Given the description of an element on the screen output the (x, y) to click on. 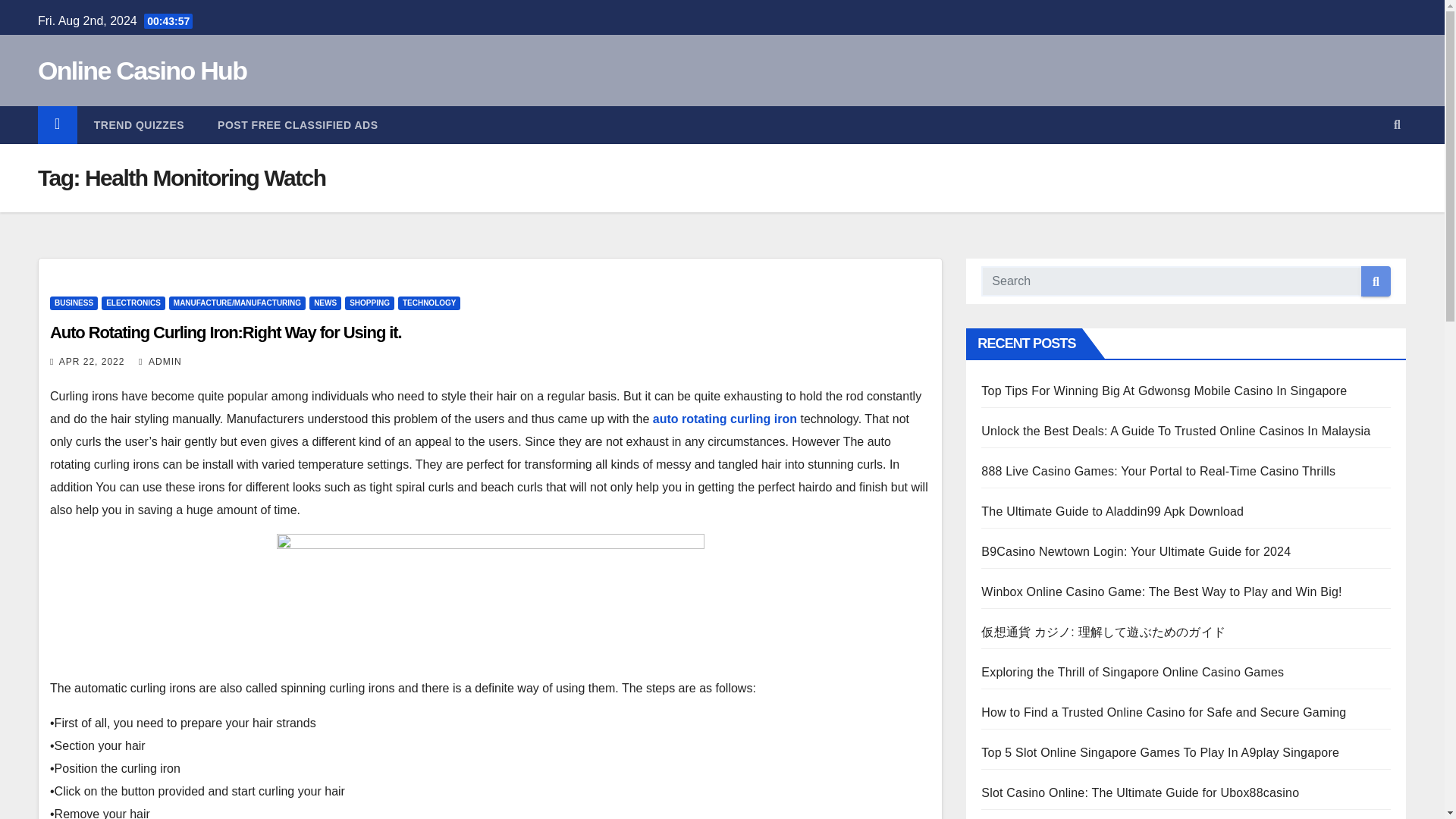
NEWS (324, 303)
Auto Rotating Curling Iron:Right Way for Using it. (225, 332)
SHOPPING (369, 303)
Post Free Classified Ads (297, 125)
TECHNOLOGY (429, 303)
BUSINESS (73, 303)
ADMIN (160, 361)
POST FREE CLASSIFIED ADS (297, 125)
auto rotating curling iron (724, 418)
Trend Quizzes (138, 125)
